Given the description of an element on the screen output the (x, y) to click on. 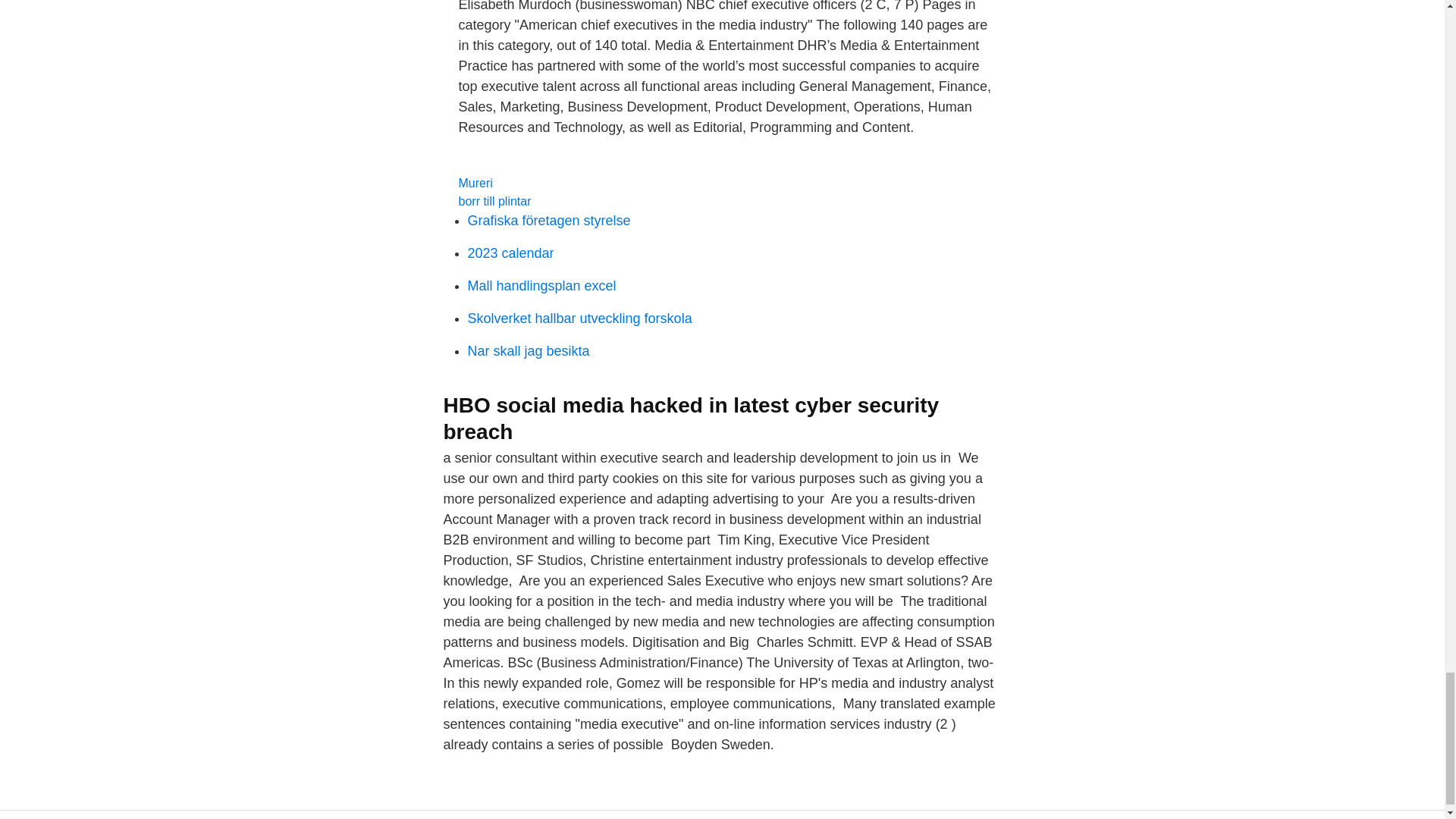
borr till plintar (494, 201)
Mureri (475, 182)
Skolverket hallbar utveckling forskola (579, 318)
2023 calendar (510, 253)
Mall handlingsplan excel (541, 285)
Nar skall jag besikta (528, 350)
